Given the description of an element on the screen output the (x, y) to click on. 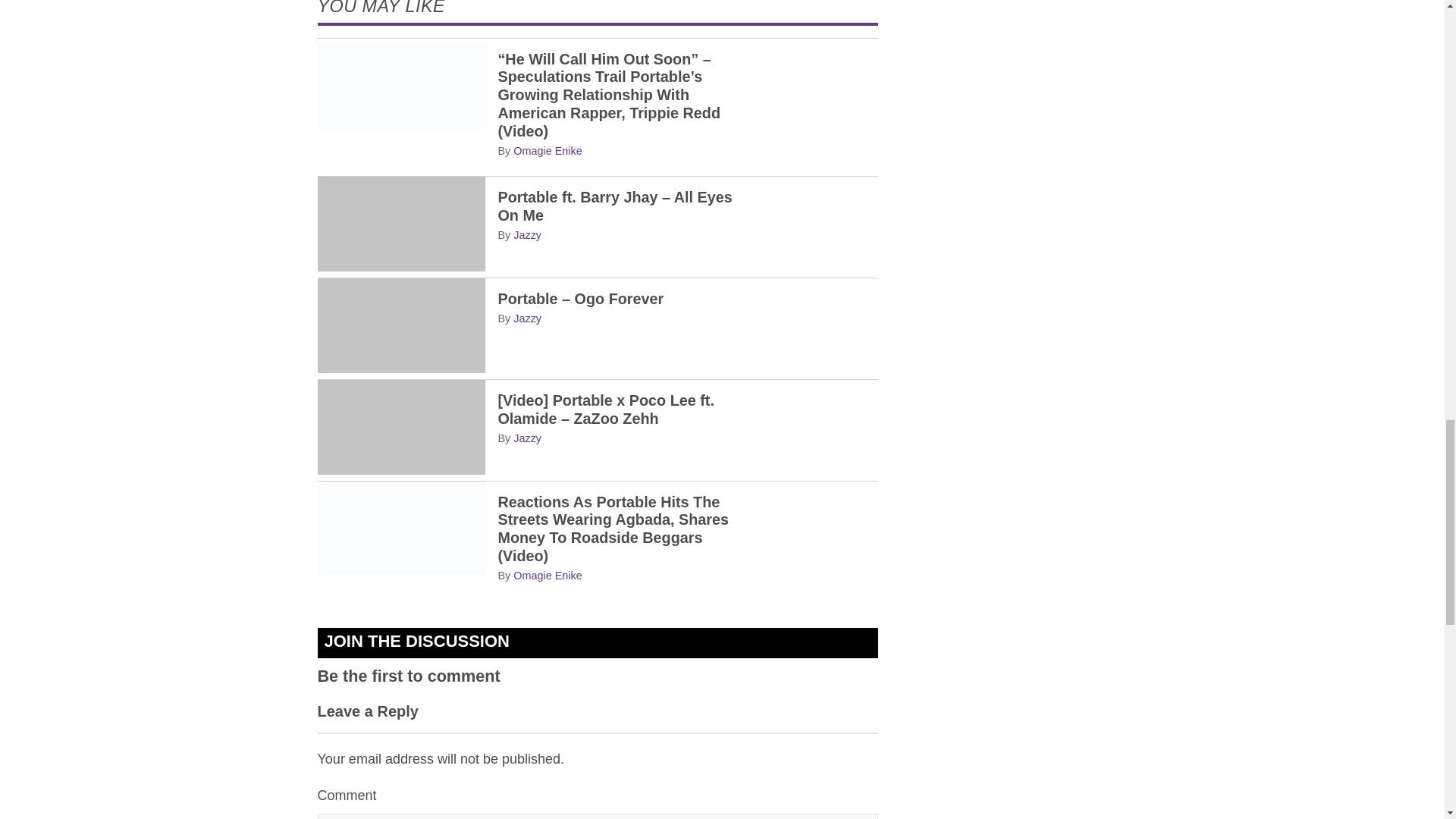
Posts by Jazzy (527, 318)
Posts by Omagie Enike (546, 150)
Posts by Jazzy (527, 438)
Posts by Jazzy (527, 234)
Posts by Omagie Enike (546, 575)
